Given the description of an element on the screen output the (x, y) to click on. 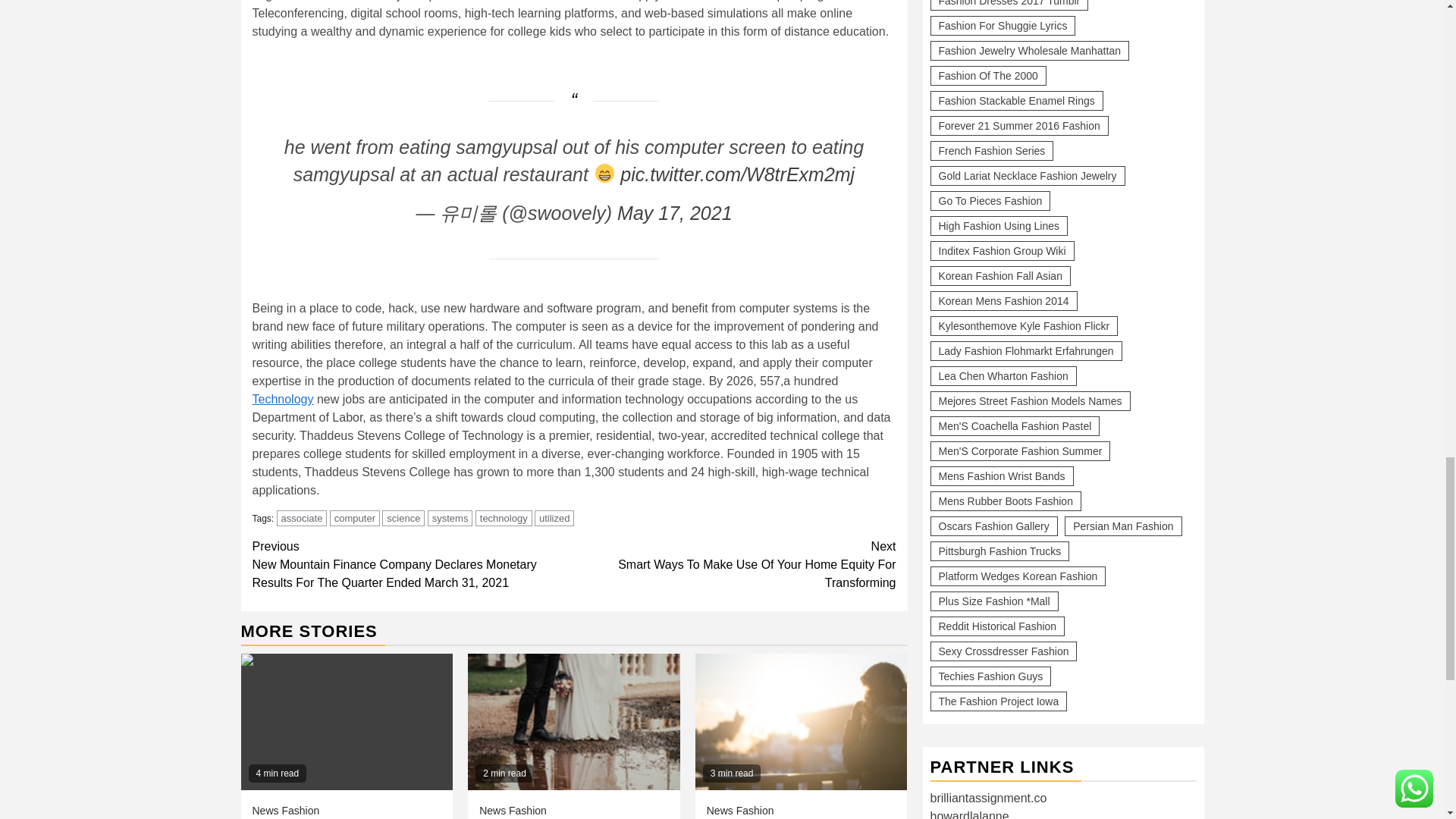
science (403, 518)
technology (504, 518)
Technology (282, 399)
May 17, 2021 (674, 212)
Cotton On To Organic Outfits (801, 721)
systems (450, 518)
Breaking News From the World of Entertainment (573, 721)
utilized (553, 518)
associate (301, 518)
